Given the description of an element on the screen output the (x, y) to click on. 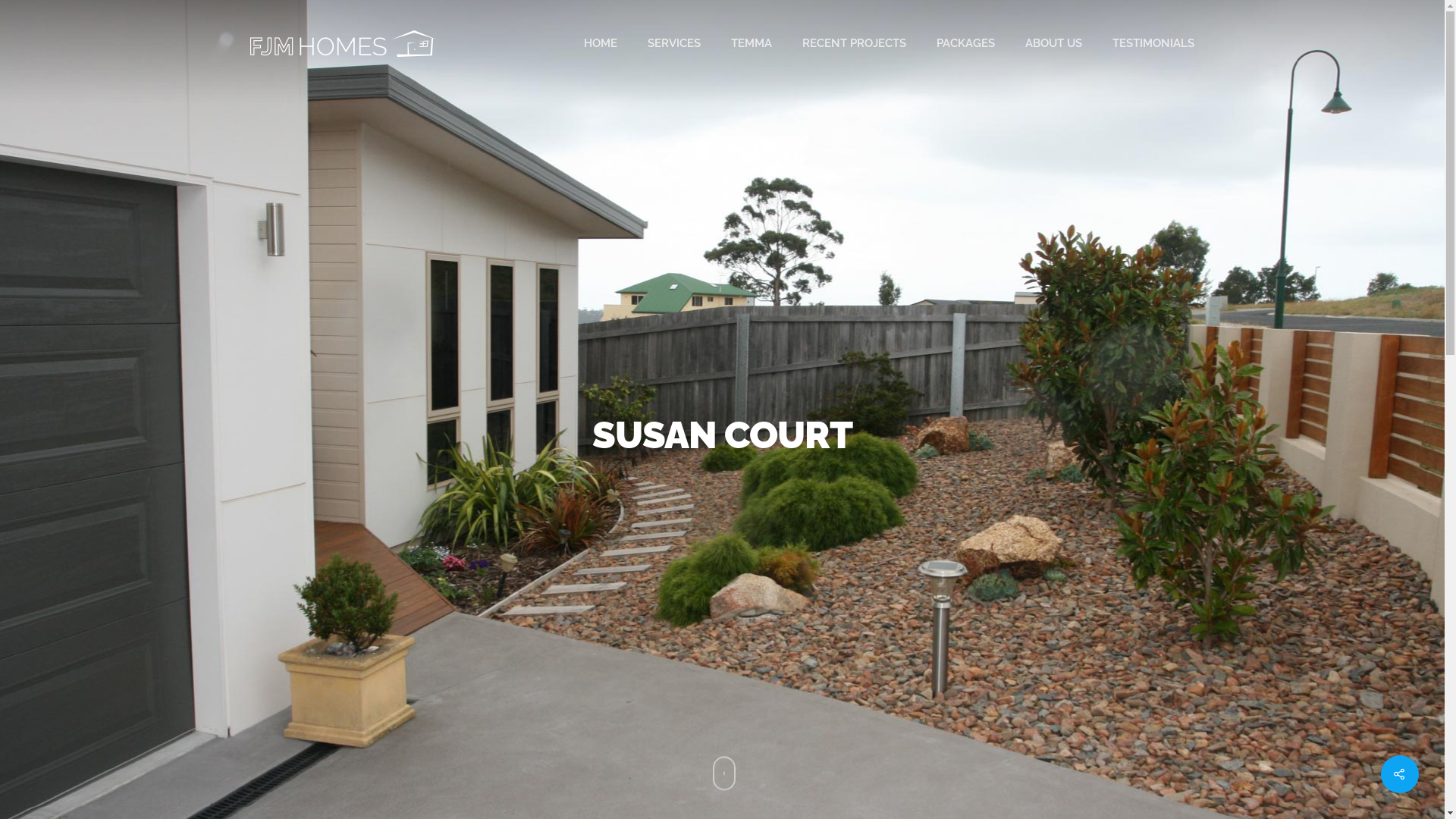
TEMMA Element type: text (751, 43)
TESTIMONIALS Element type: text (1153, 43)
RECENT PROJECTS Element type: text (854, 43)
ABOUT US Element type: text (1053, 43)
HOME Element type: text (600, 43)
PACKAGES Element type: text (965, 43)
SERVICES Element type: text (673, 43)
